Given the description of an element on the screen output the (x, y) to click on. 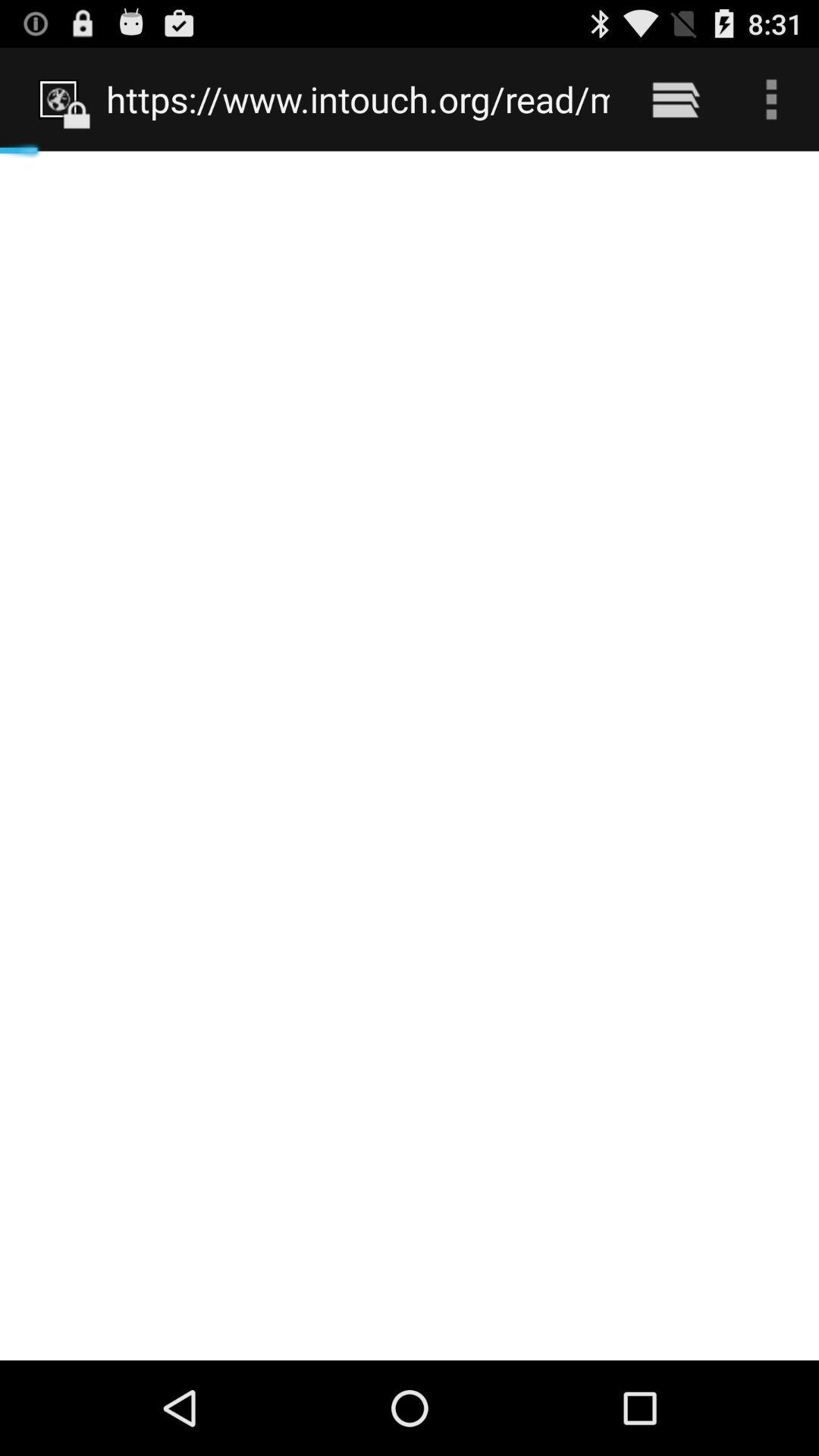
swipe to the https www intouch icon (357, 99)
